Given the description of an element on the screen output the (x, y) to click on. 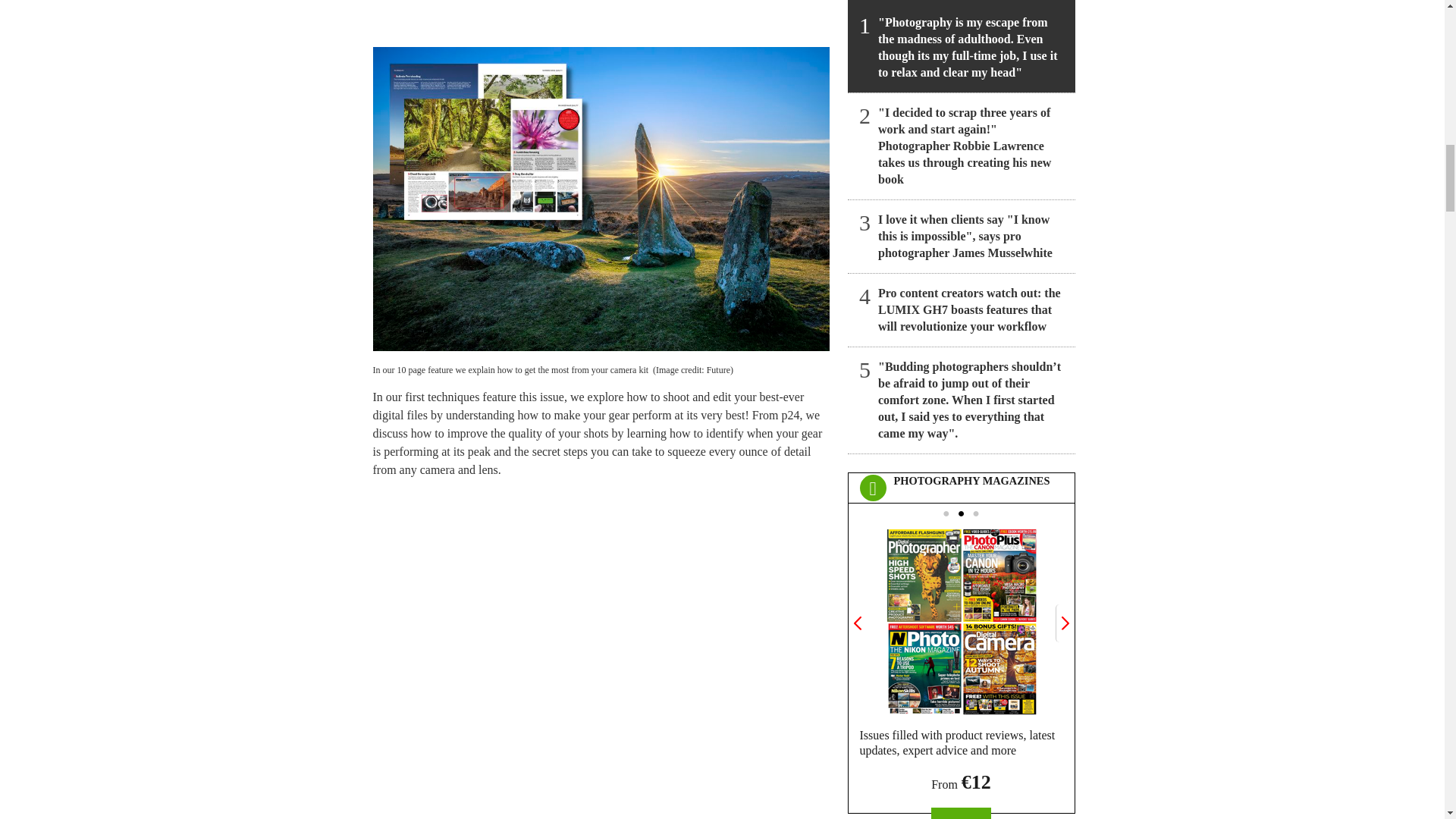
Photography Magazines (960, 617)
